Given the description of an element on the screen output the (x, y) to click on. 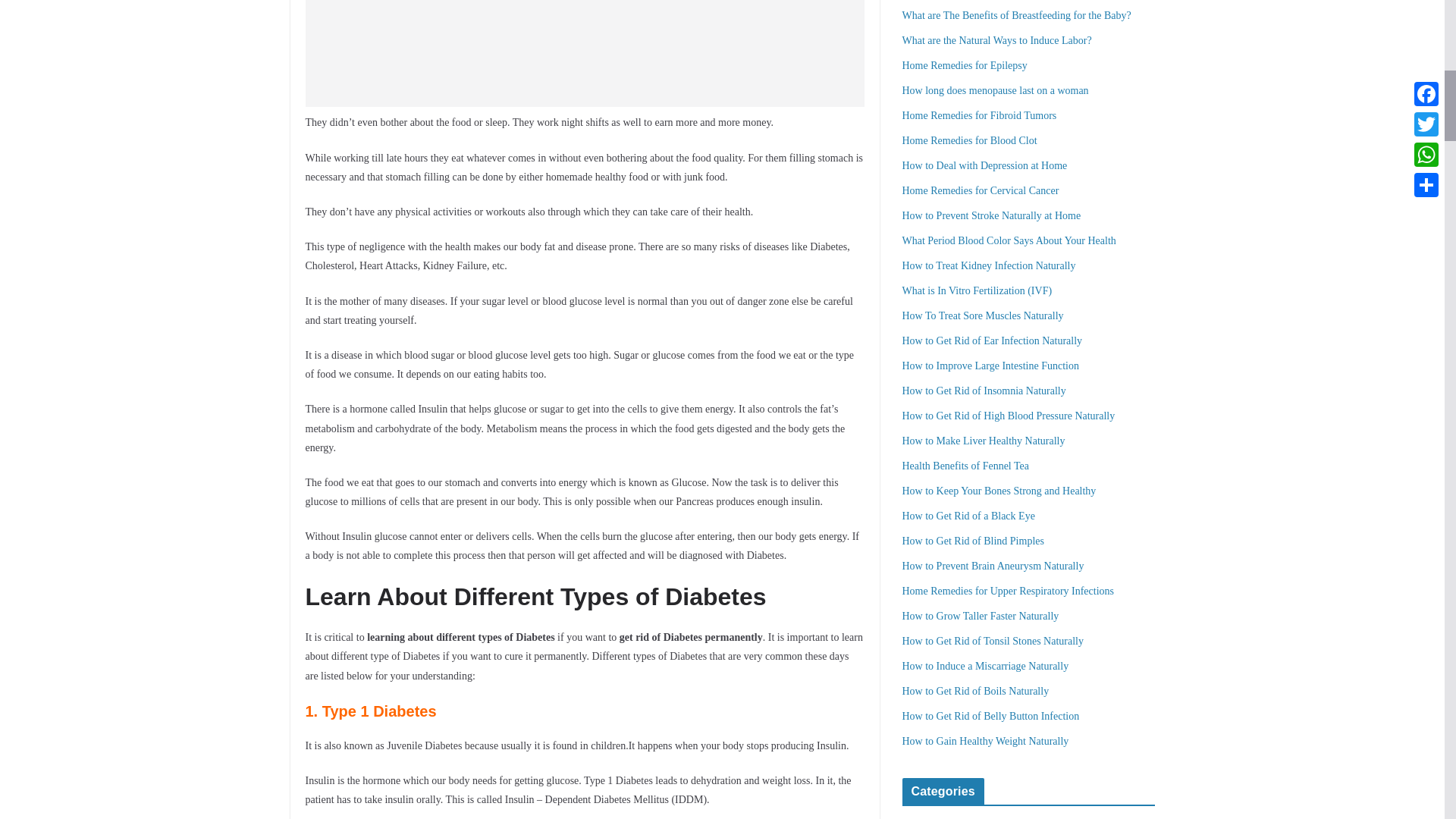
What are The Benefits of Breastfeeding for the Baby? (1016, 15)
What are the Natural Ways to Induce Labor? (997, 40)
Advertisement (583, 53)
